Given the description of an element on the screen output the (x, y) to click on. 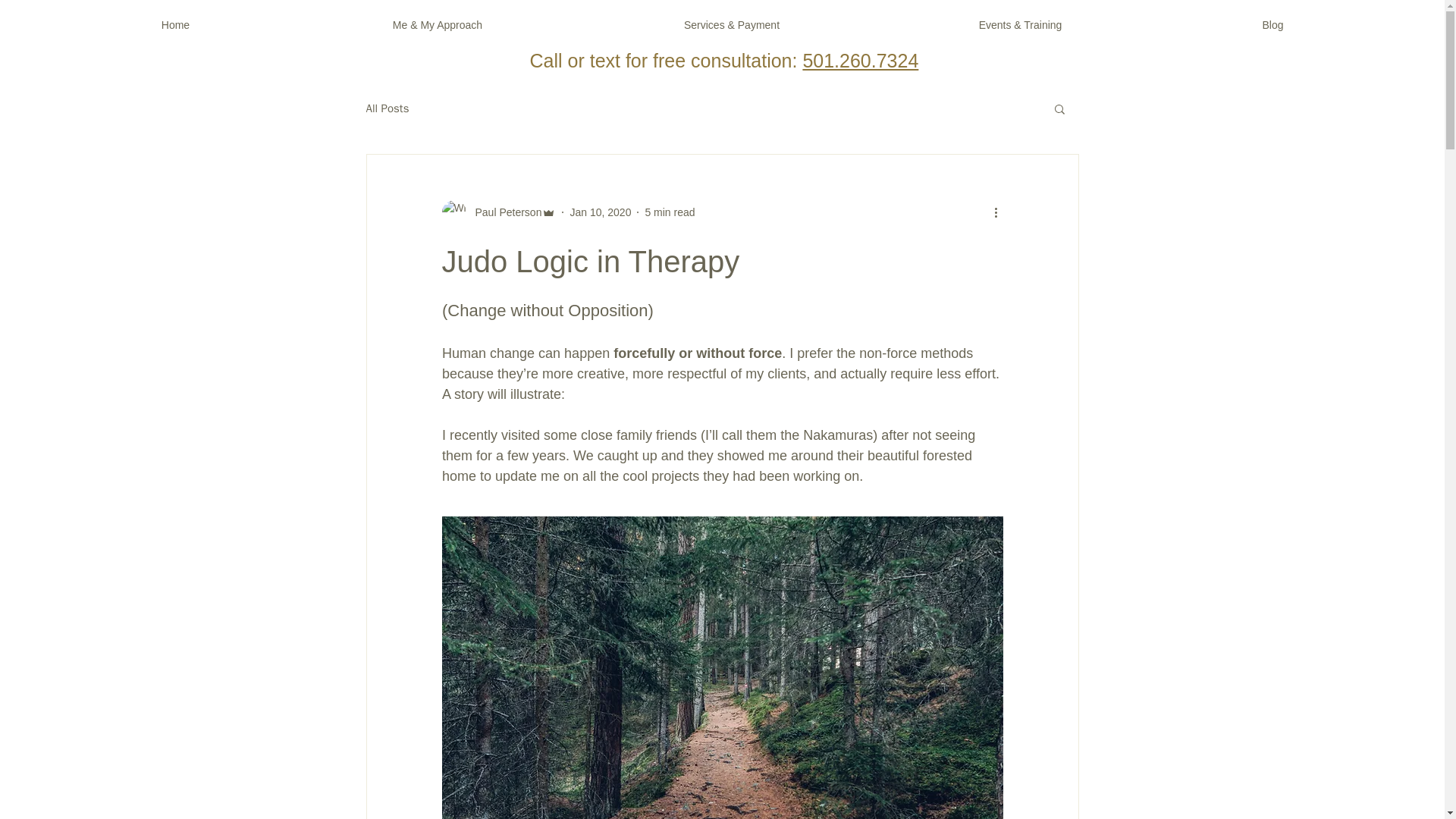
Blog (1272, 24)
Jan 10, 2020 (599, 212)
5 min read (669, 212)
Paul Peterson (498, 211)
501.260.7324 (860, 60)
Home (175, 24)
Paul Peterson (503, 212)
All Posts (387, 108)
